Given the description of an element on the screen output the (x, y) to click on. 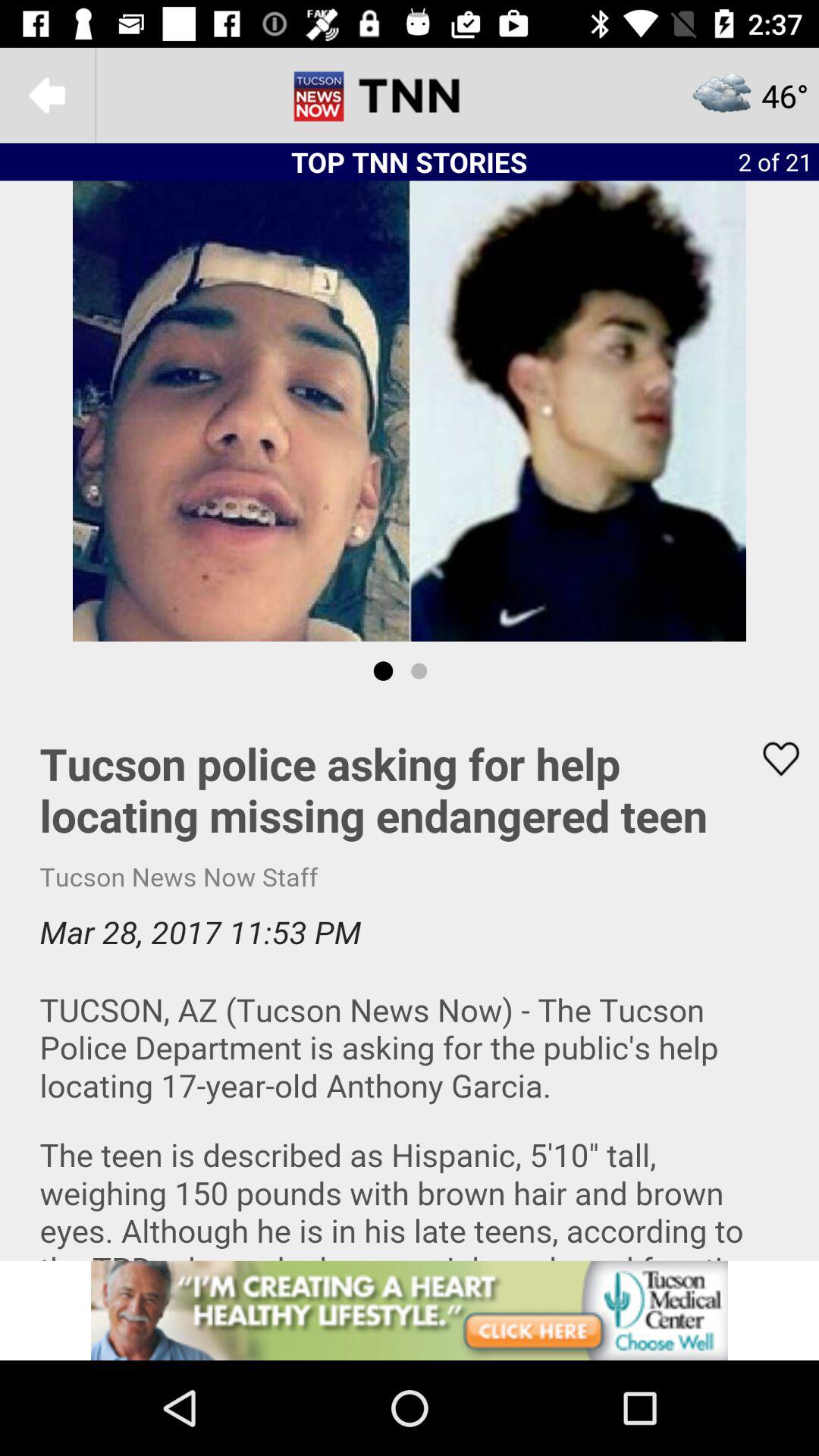
tnn option (409, 95)
